Given the description of an element on the screen output the (x, y) to click on. 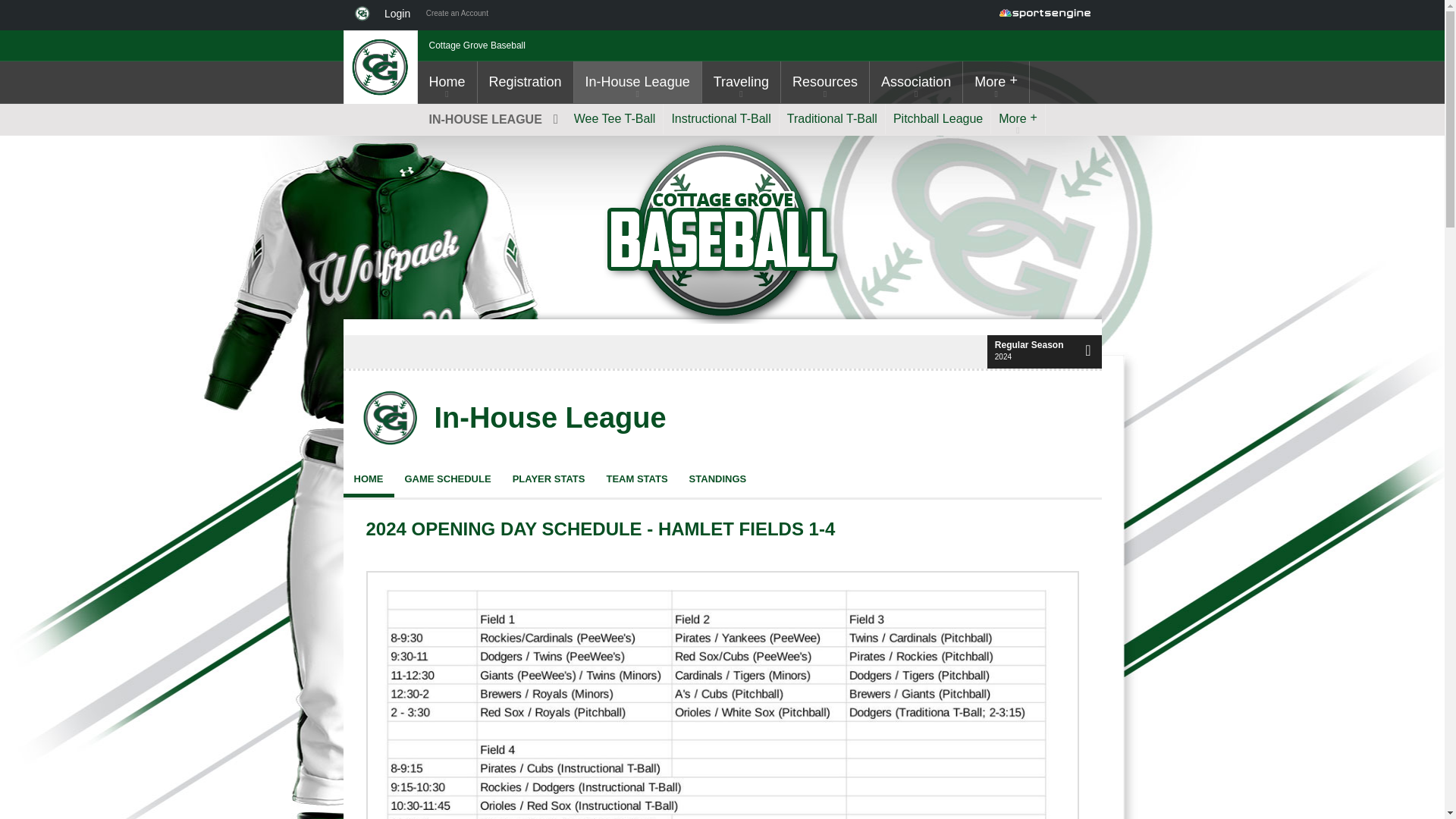
In-House League (549, 418)
Login (400, 15)
IN-HOUSE LEAGUE (491, 119)
GAME SCHEDULE (448, 479)
Create an Account (457, 15)
Create an Account (457, 15)
Instructional T-Ball (720, 119)
click to go to 'Pitchball League' (937, 119)
click to go to 'Traveling' (740, 82)
Wee Tee T-Ball (614, 119)
